Given the description of an element on the screen output the (x, y) to click on. 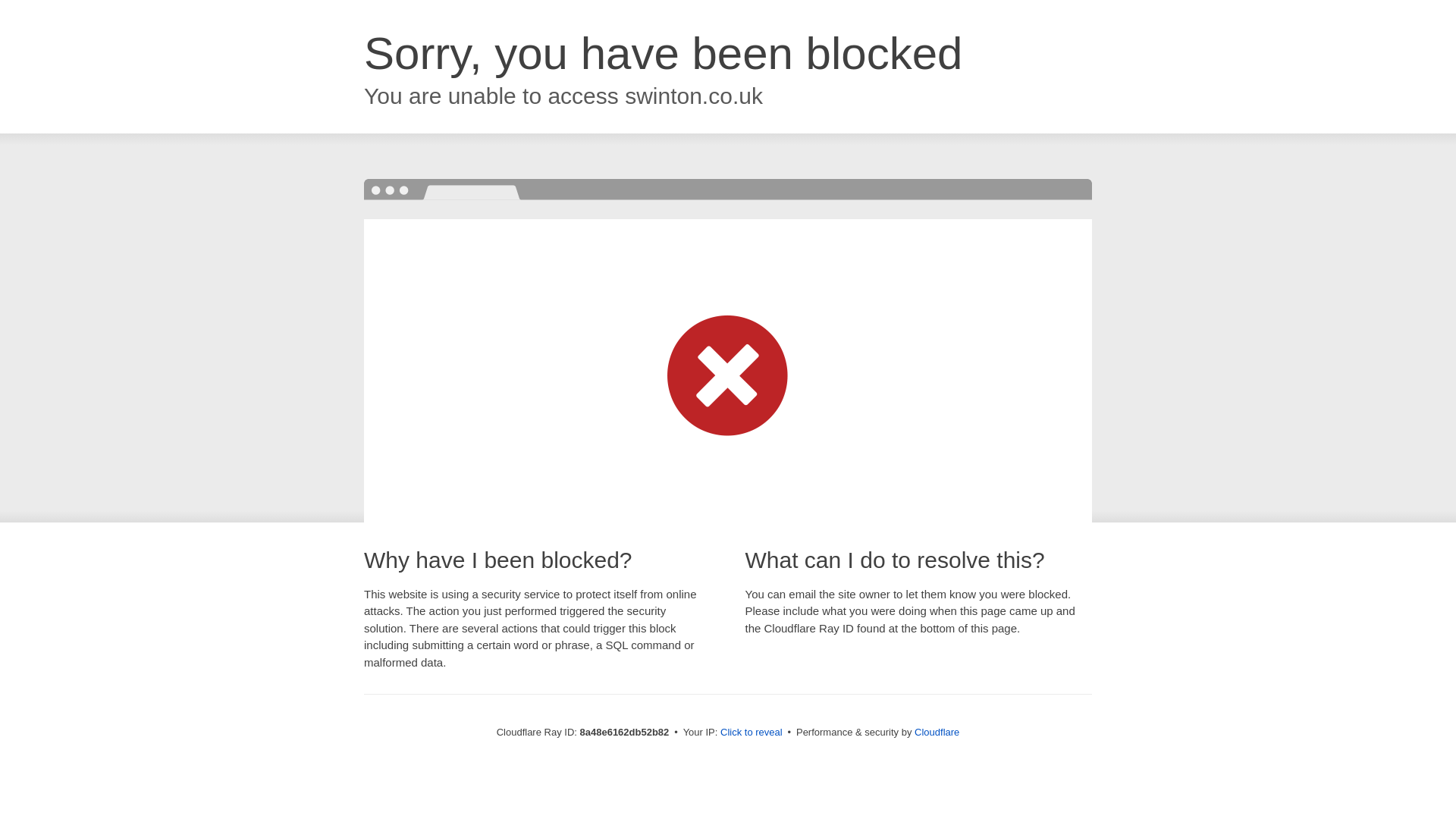
Click to reveal (751, 732)
Cloudflare (936, 731)
